Given the description of an element on the screen output the (x, y) to click on. 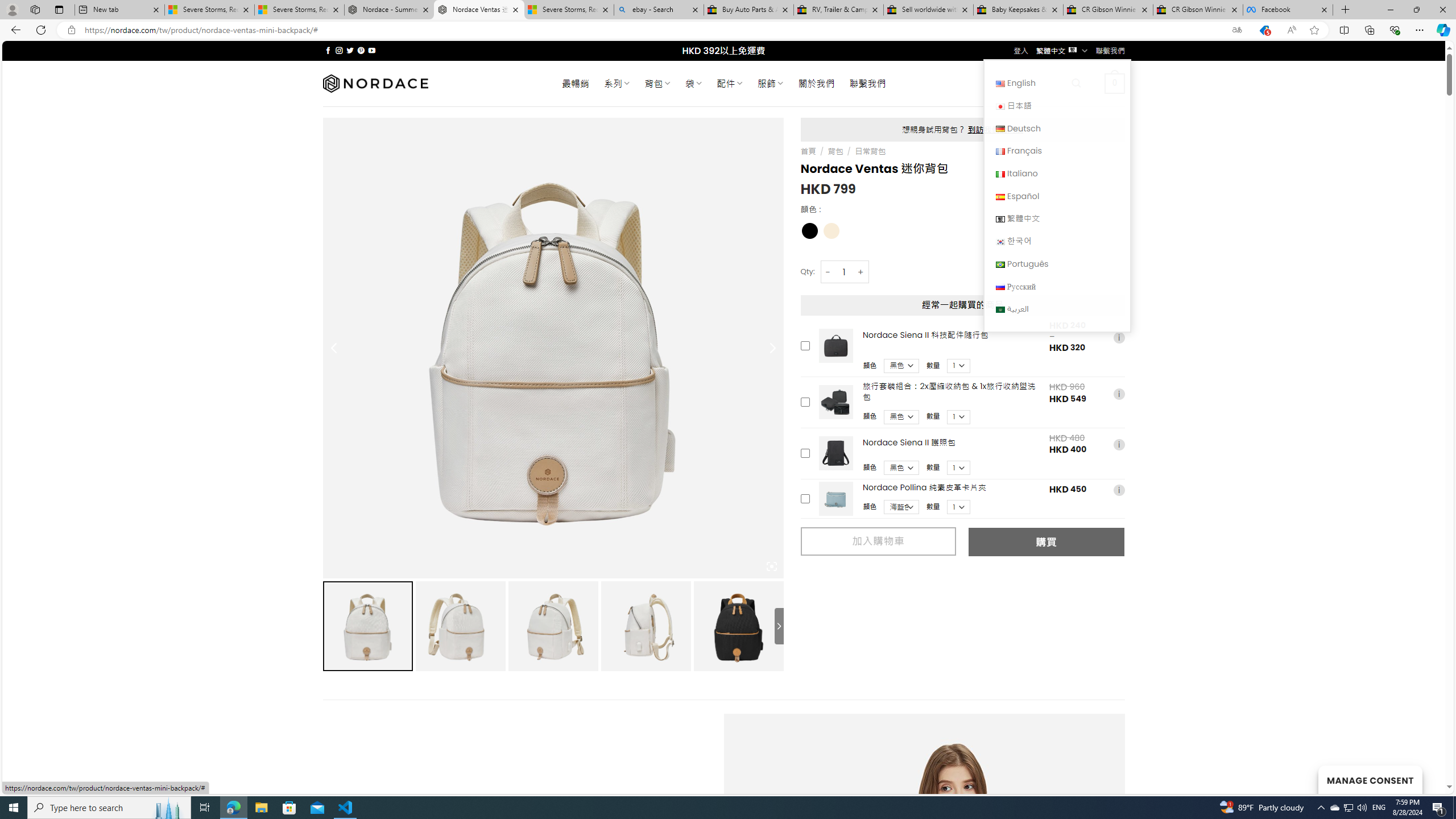
Deutsch Deutsch (1056, 128)
Class: iconic-woothumbs-fullscreen (771, 566)
Follow on Pinterest (360, 50)
This site has coupons! Shopping in Microsoft Edge, 5 (1263, 29)
  0   (1115, 83)
